Given the description of an element on the screen output the (x, y) to click on. 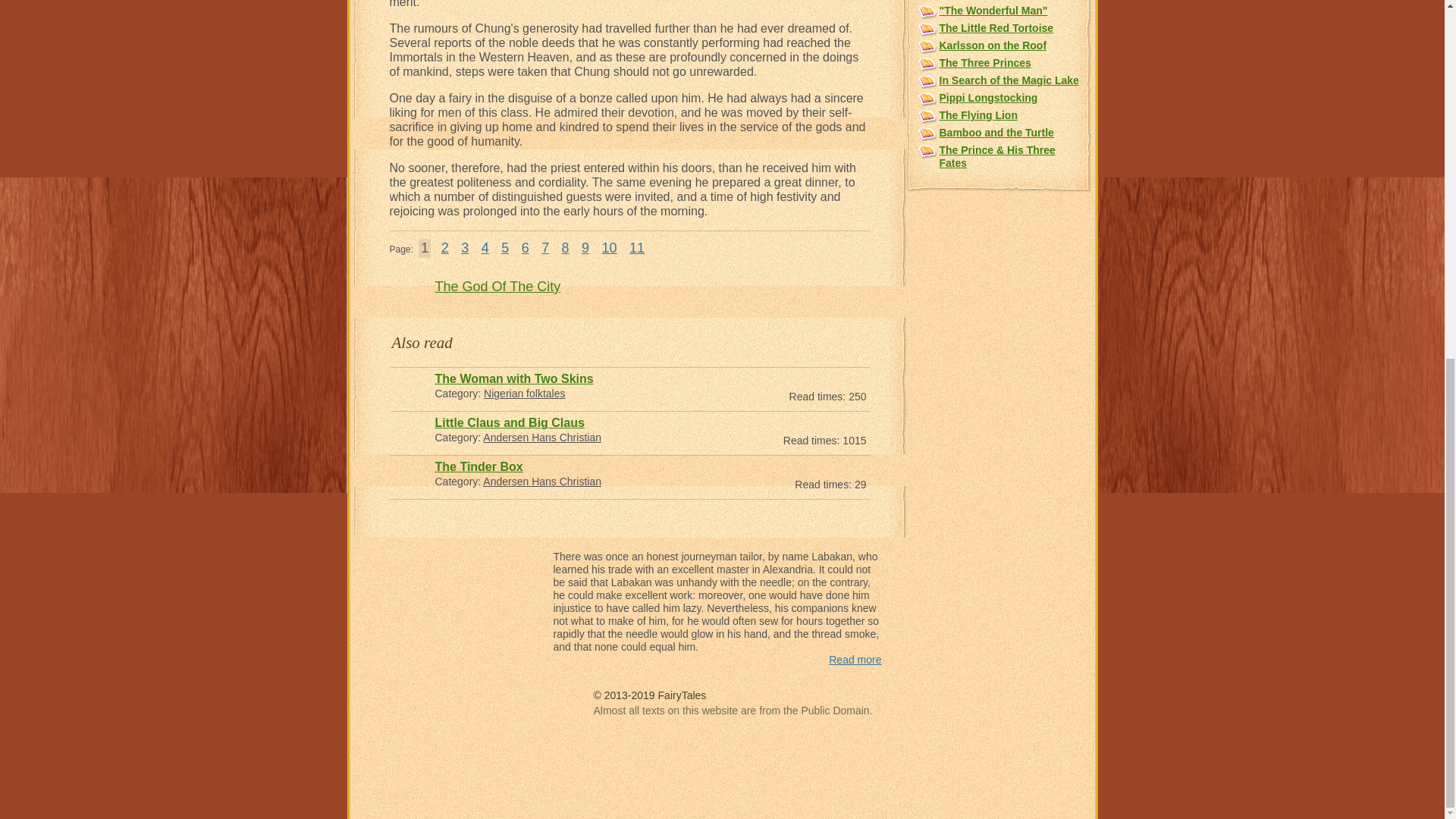
The Little Red Tortoise (995, 28)
The Flying Lion (977, 114)
"The Wonderful Man" (992, 10)
Bamboo and the Turtle (995, 132)
Pippi Longstocking (987, 97)
Karlsson on the Roof (992, 45)
The Three Princes (984, 62)
In Search of the Magic Lake (1008, 80)
